Given the description of an element on the screen output the (x, y) to click on. 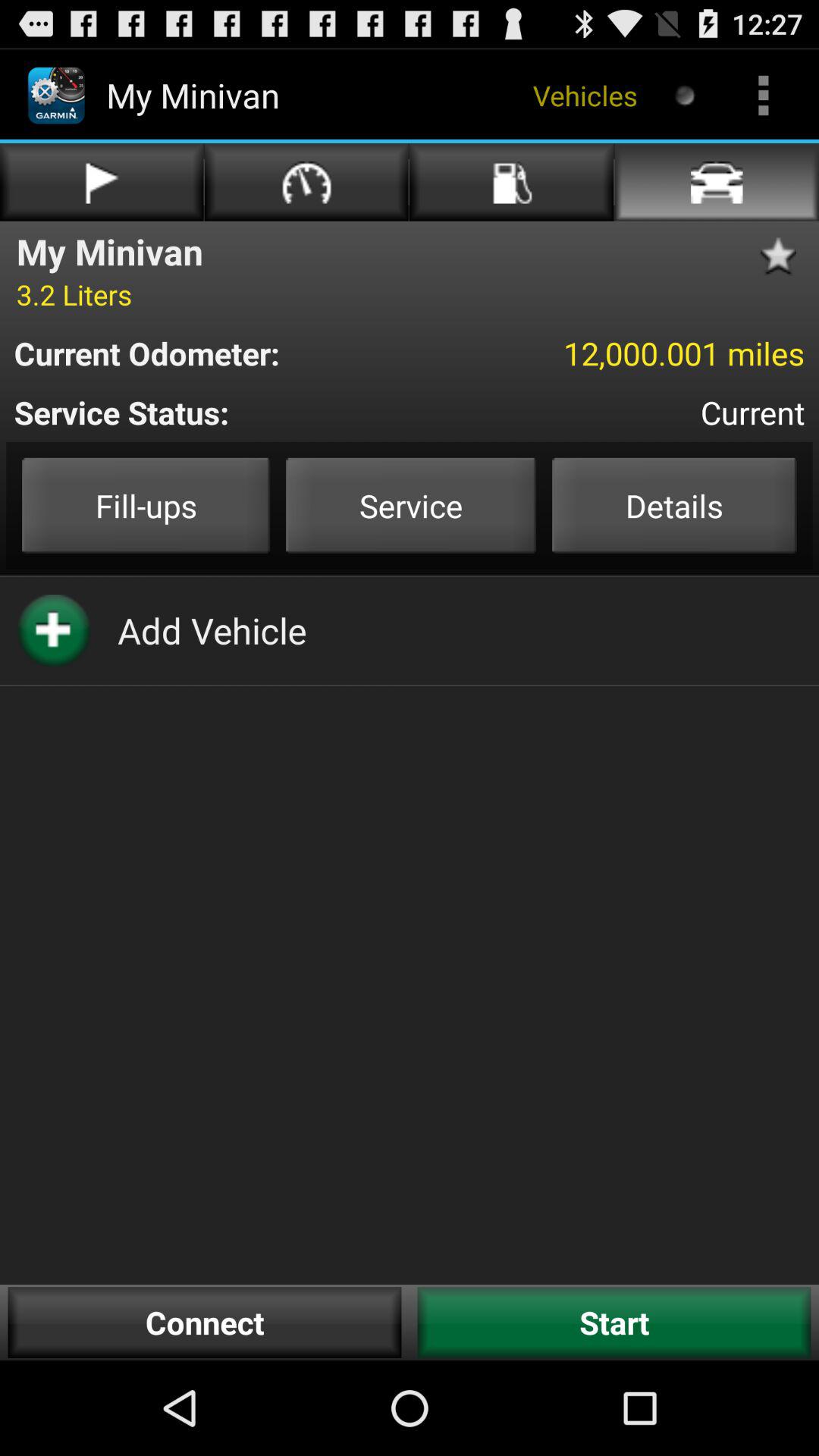
select connect at the bottom left corner (204, 1322)
